Given the description of an element on the screen output the (x, y) to click on. 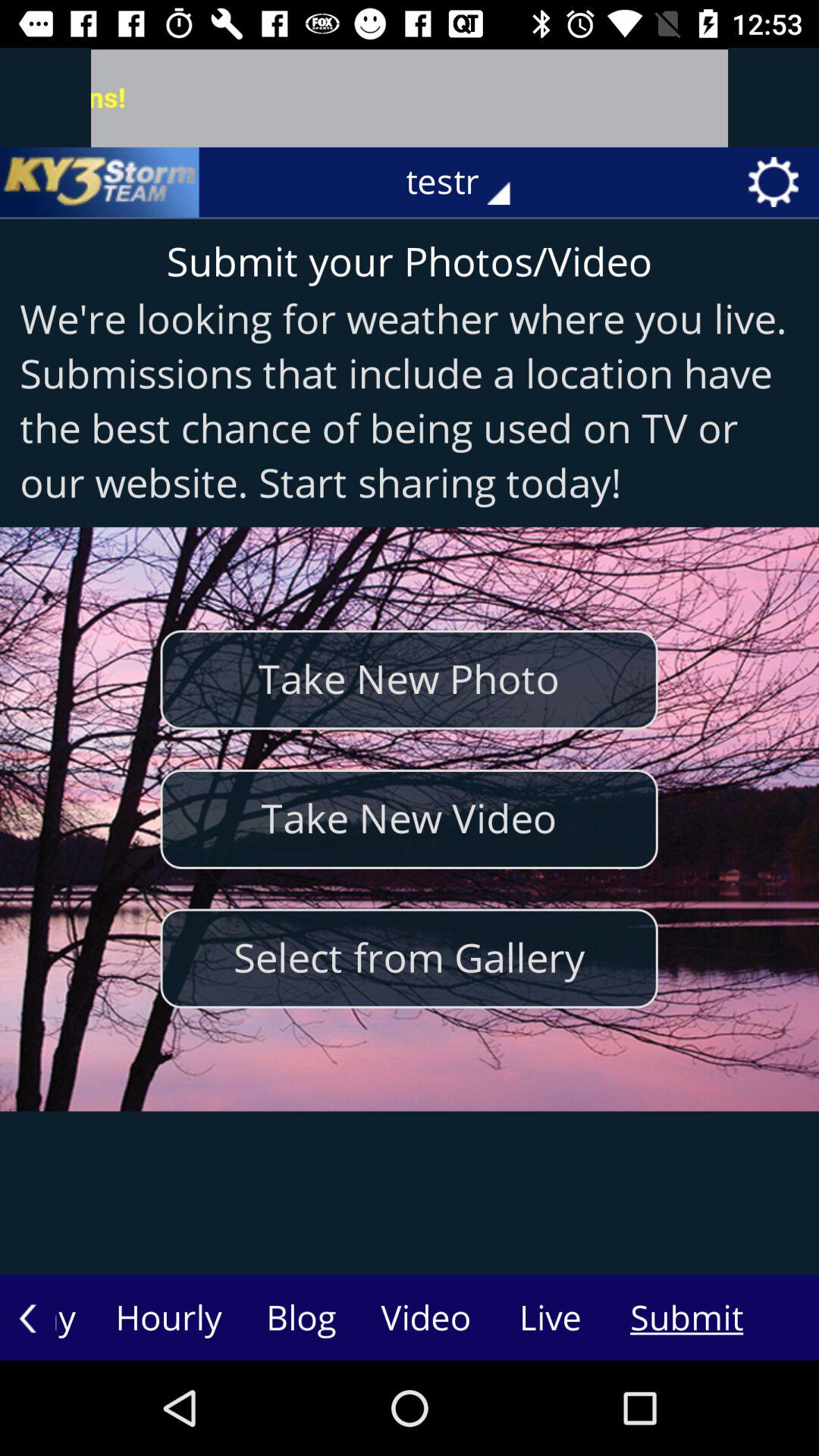
open the icon next to the testr item (99, 182)
